Given the description of an element on the screen output the (x, y) to click on. 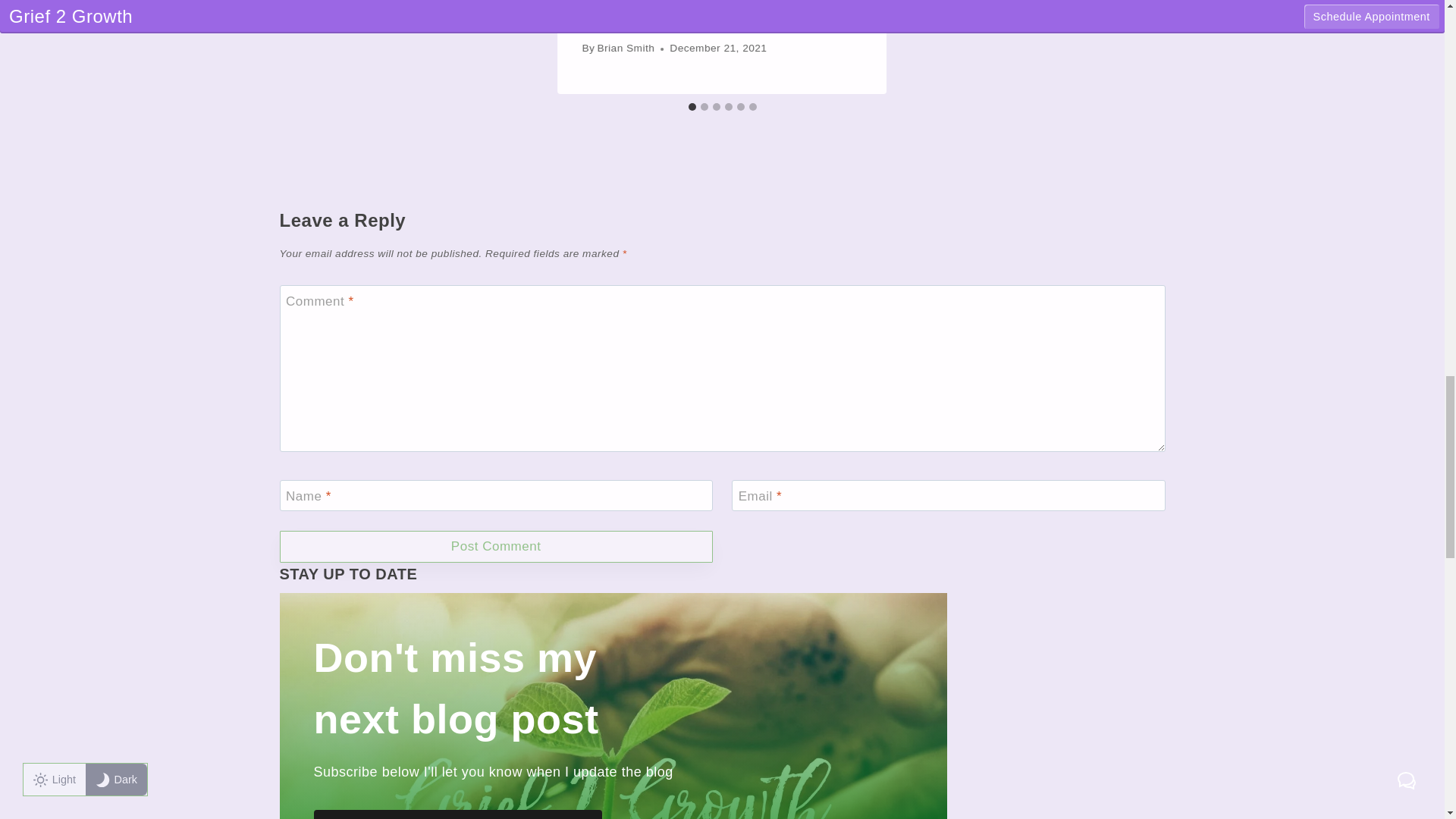
Post Comment (495, 546)
